Given the description of an element on the screen output the (x, y) to click on. 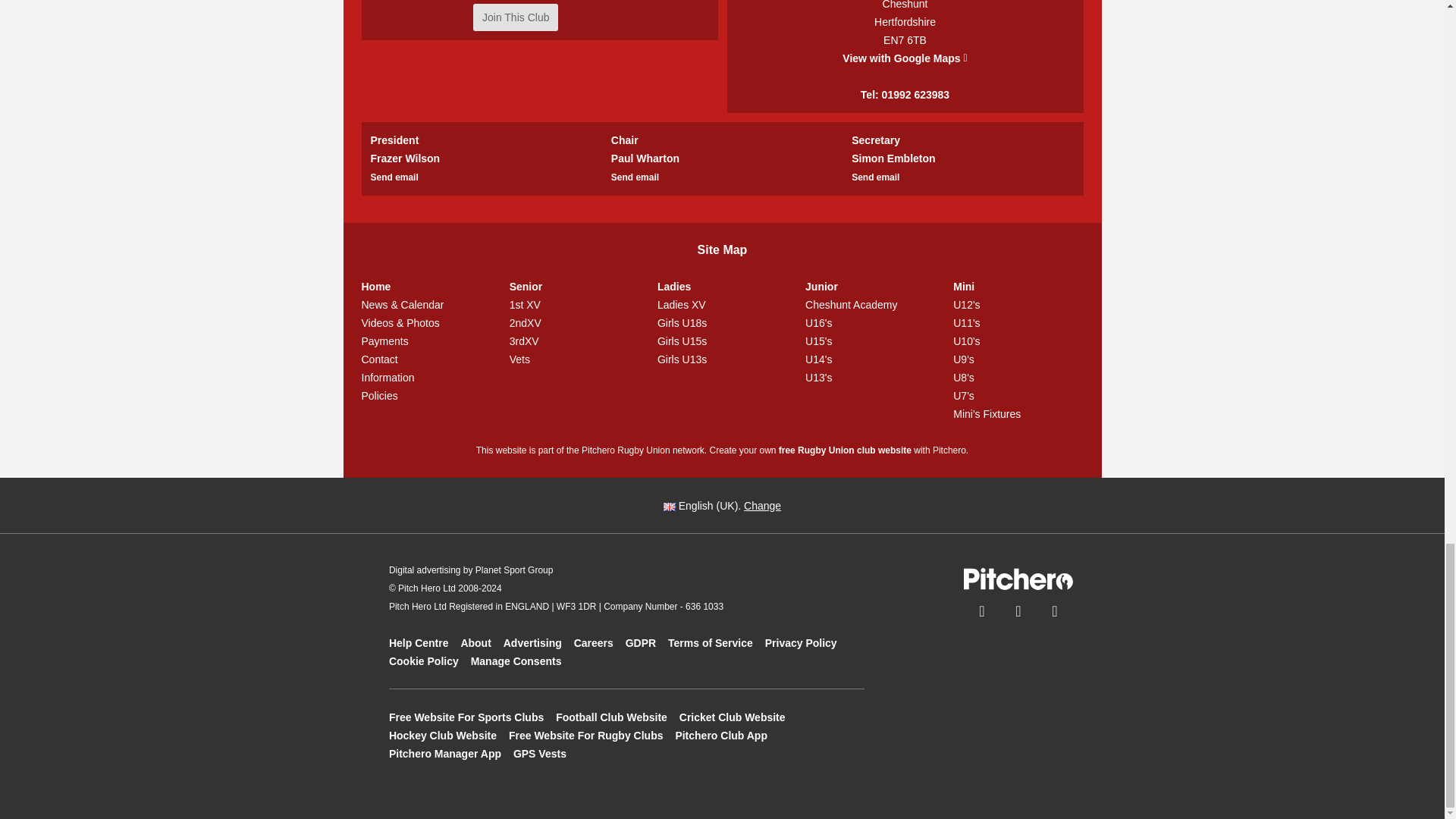
Payments (425, 341)
Send email (393, 176)
Tel: 01992 623983 (904, 93)
Join This Club (515, 16)
Information (425, 377)
Contact (425, 359)
Home (425, 286)
Send email (875, 176)
Send email (635, 176)
